Given the description of an element on the screen output the (x, y) to click on. 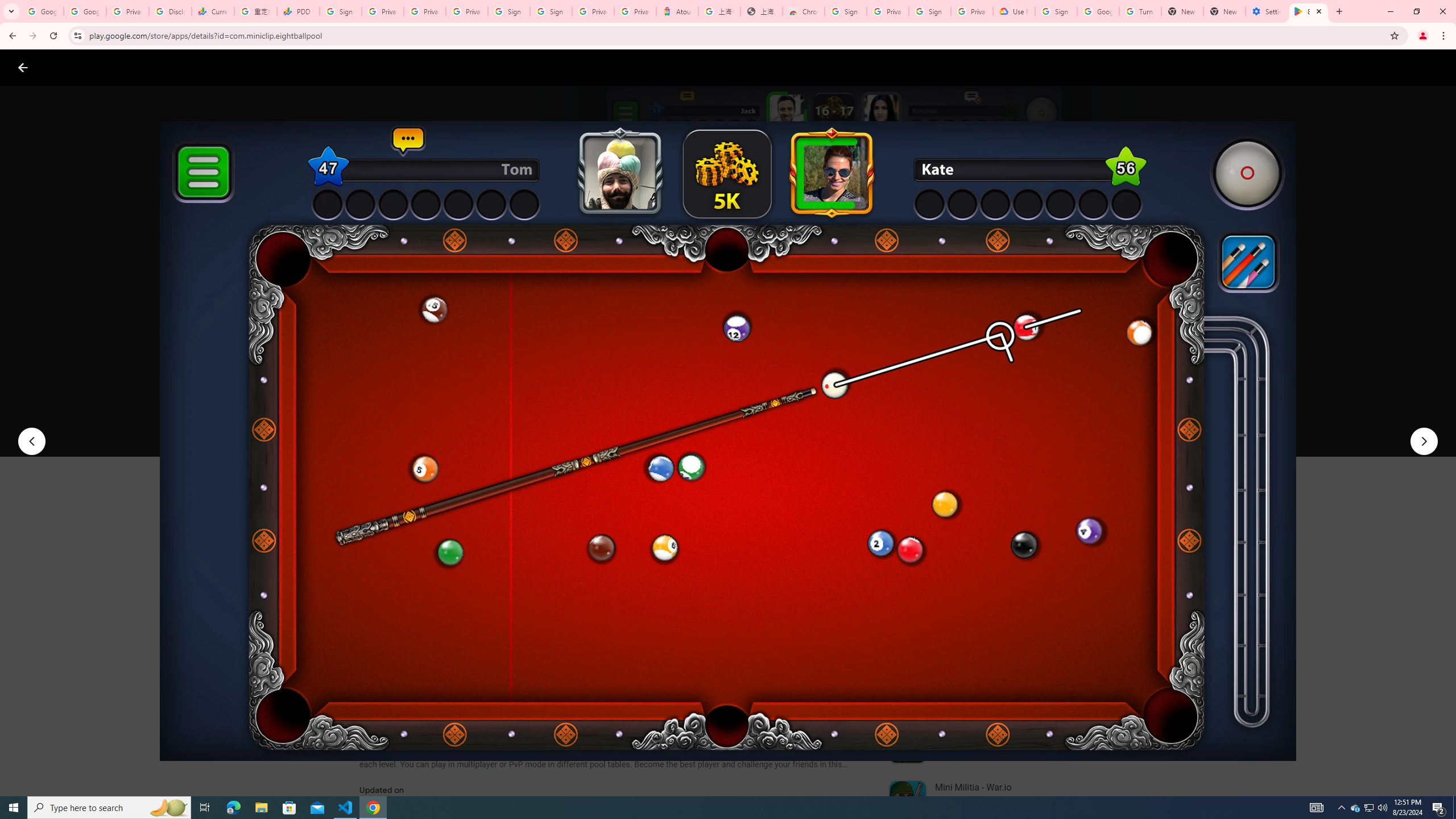
Google Account Help (1097, 11)
Play trailer (1062, 423)
Privacy Checkup (467, 11)
Miniclip.com (386, 333)
Add to wishlist (576, 422)
Share (506, 422)
Turn cookies on or off - Computer - Google Account Help (1139, 11)
Sign in - Google Accounts (1055, 11)
Kids (219, 67)
Scroll Next (848, 563)
